Given the description of an element on the screen output the (x, y) to click on. 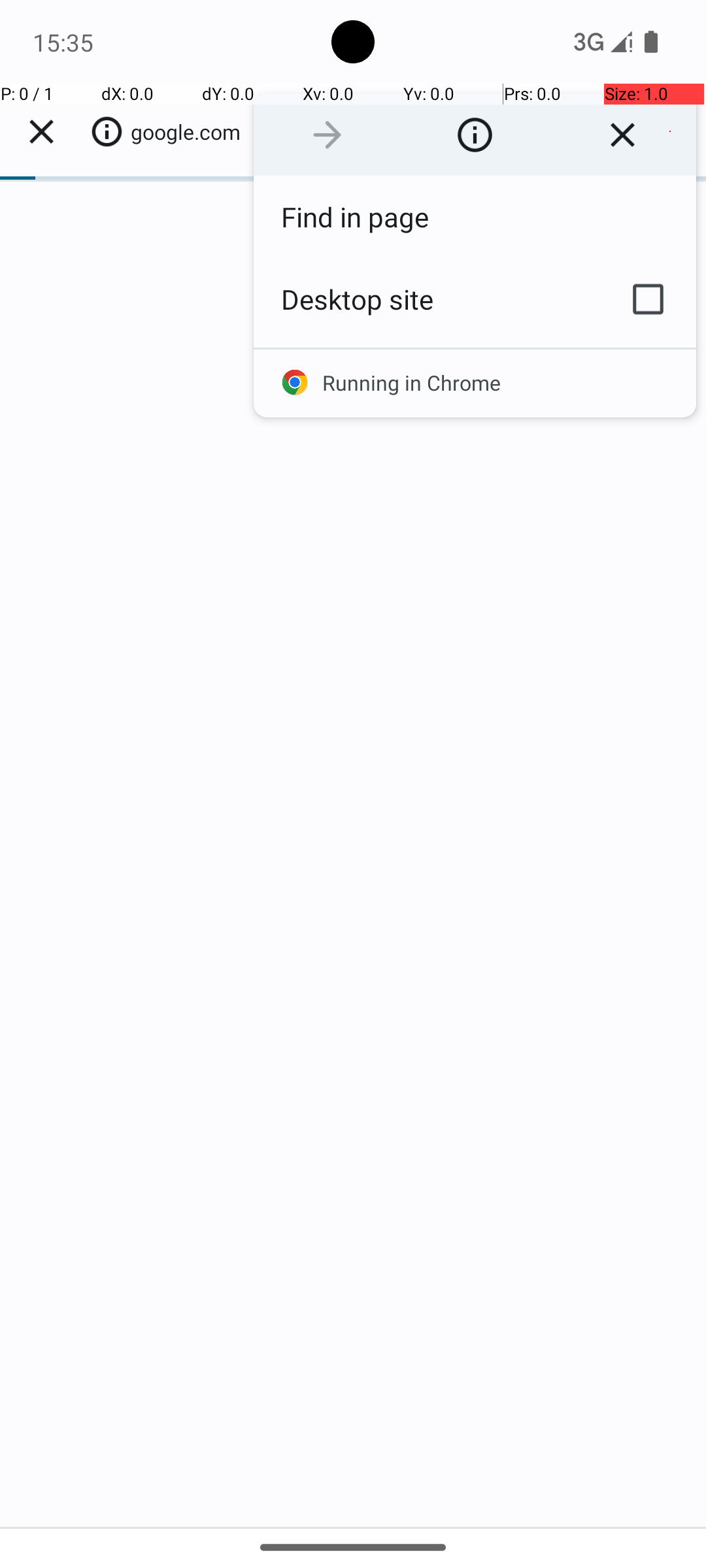
Running in Chrome Element type: android.widget.TextView (474, 382)
Go forward Element type: android.widget.ImageButton (326, 134)
View site information Element type: android.widget.ImageButton (474, 134)
Stop refreshing Element type: android.widget.ImageButton (622, 134)
Find in page Element type: android.widget.TextView (474, 216)
Desktop site Element type: android.widget.TextView (426, 299)
